Given the description of an element on the screen output the (x, y) to click on. 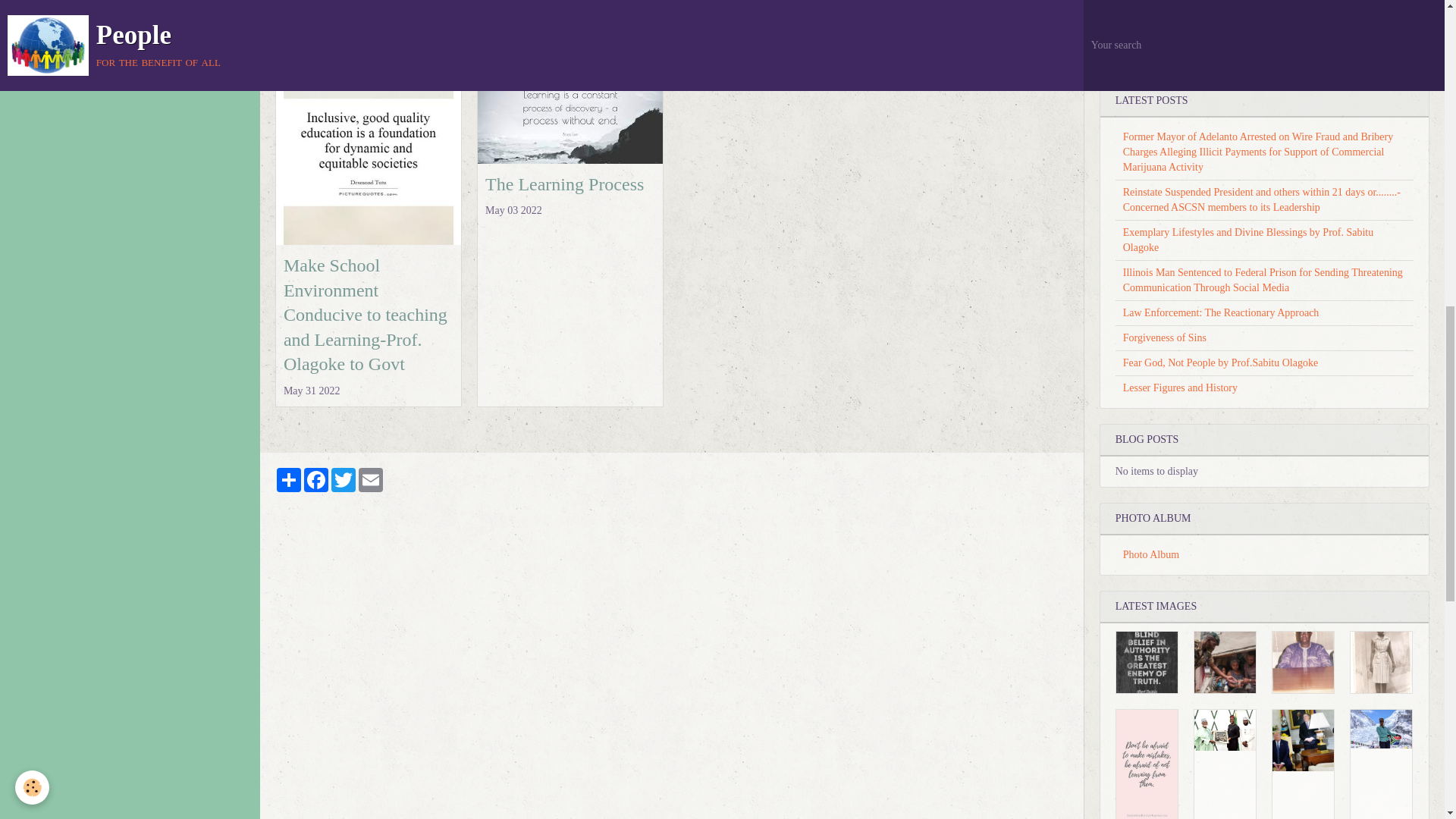
Email (370, 479)
The Learning Process (563, 184)
Twitter (343, 479)
Facebook (316, 479)
OK (1397, 48)
Partager (288, 479)
